Given the description of an element on the screen output the (x, y) to click on. 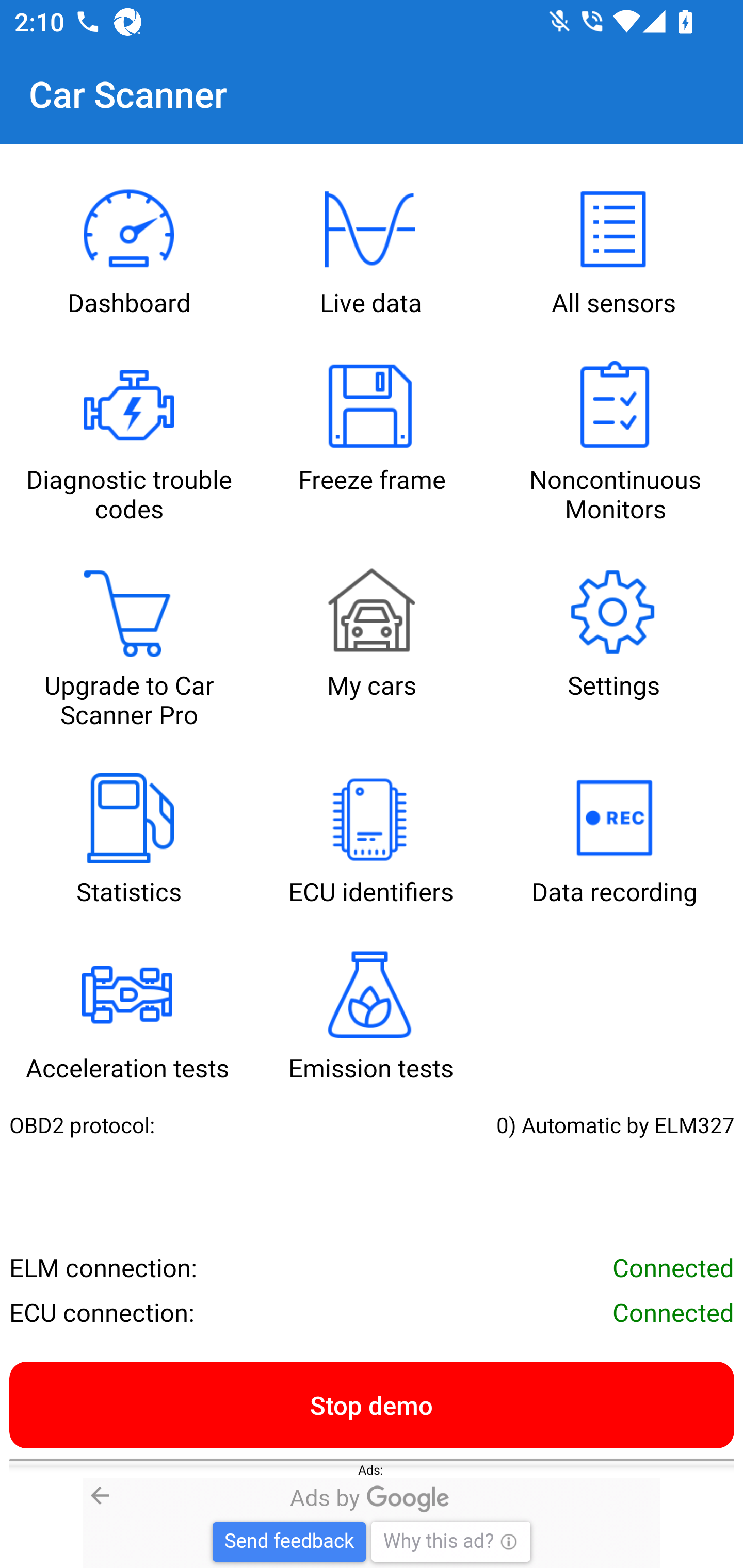
Stop demo (371, 1404)
